Given the description of an element on the screen output the (x, y) to click on. 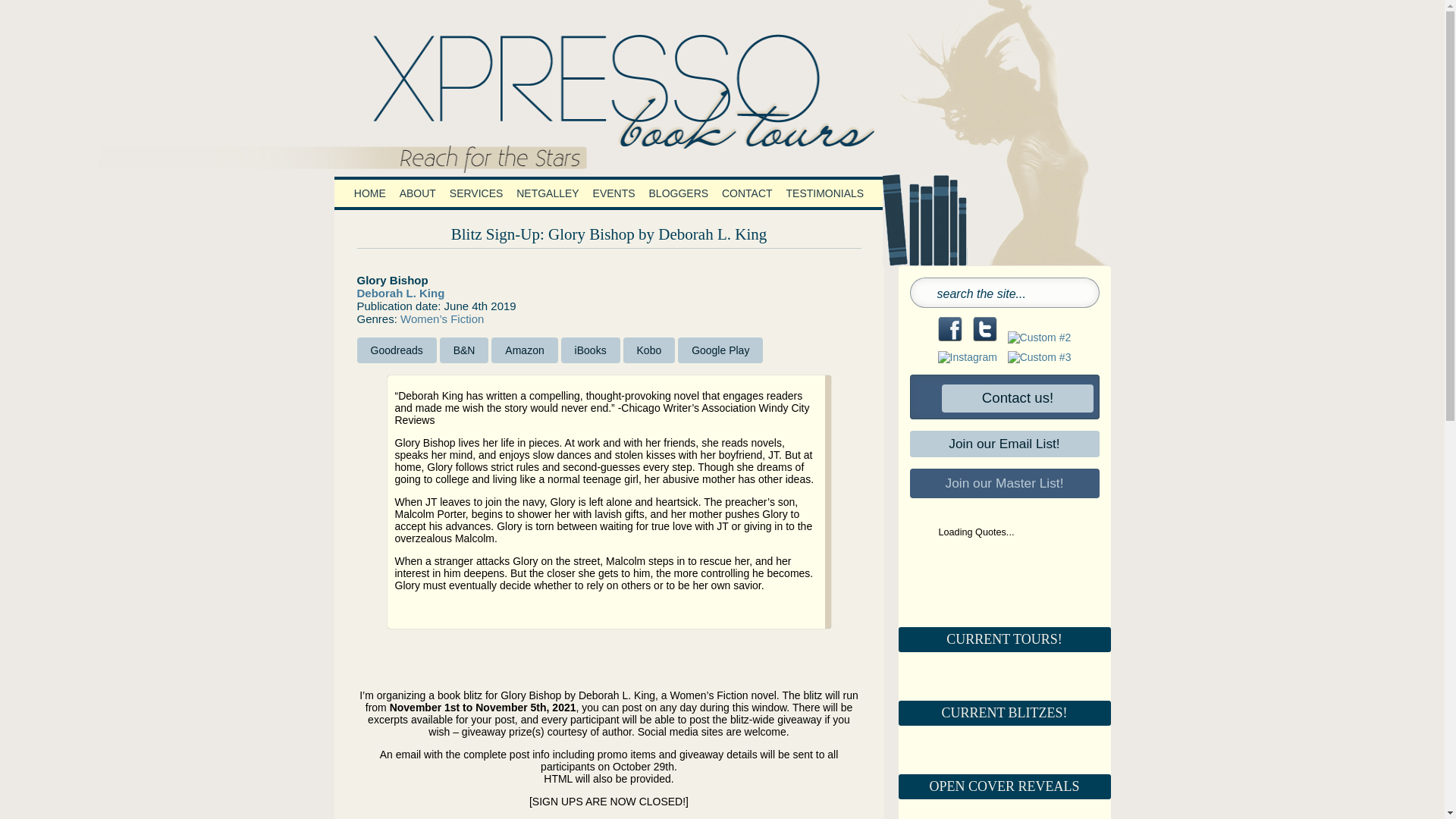
Kobo (649, 350)
Goodreads (395, 350)
Join our Email List! (1004, 443)
SERVICES (476, 193)
BLOGGERS (678, 193)
Join our Master List! (1004, 483)
HOME (370, 193)
Amazon (524, 350)
iBooks (590, 350)
Contact us! (1002, 398)
Deborah L. King (400, 292)
CONTACT (746, 193)
TESTIMONIALS (824, 193)
Google Play (720, 350)
